Given the description of an element on the screen output the (x, y) to click on. 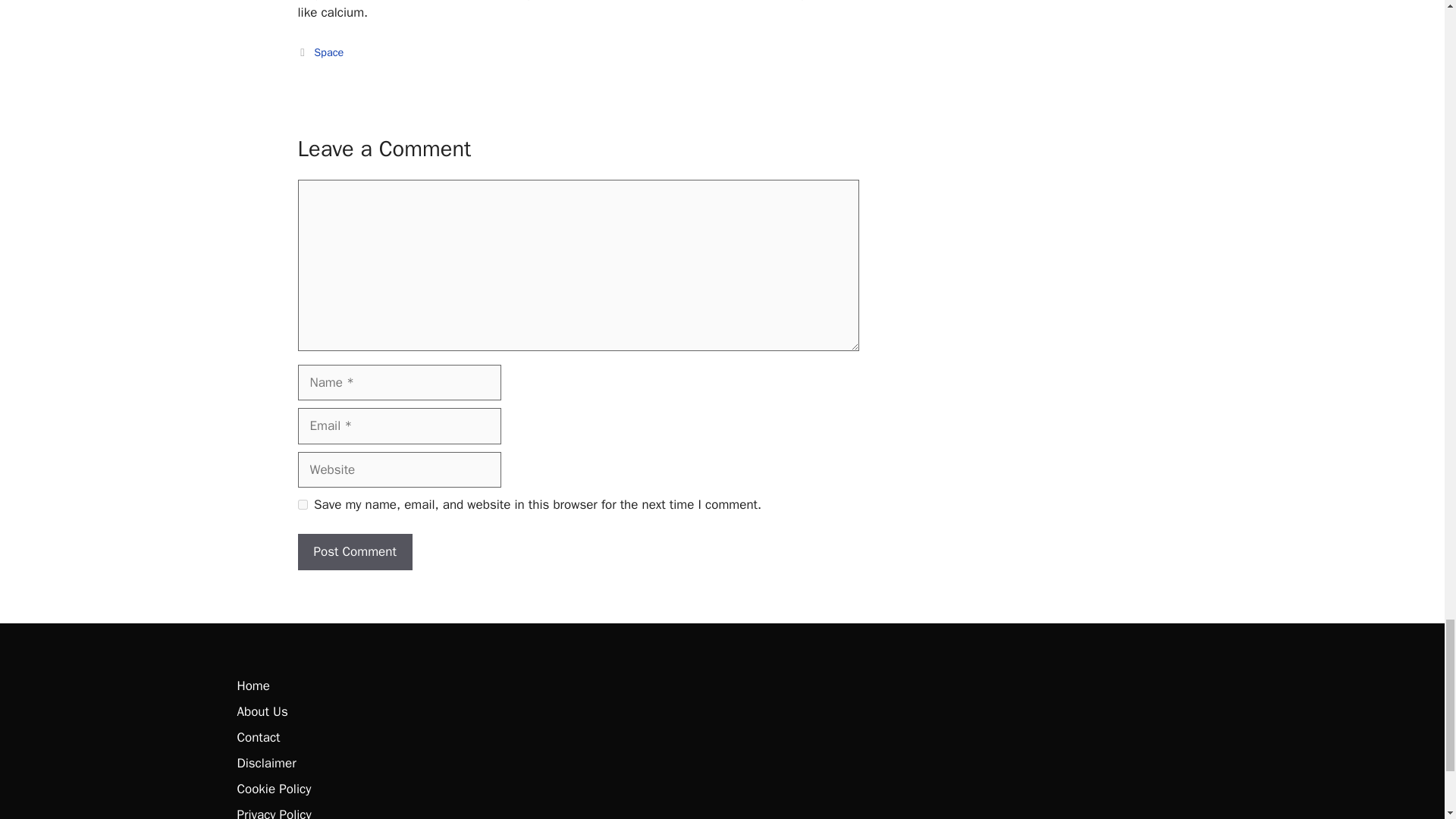
Home (252, 685)
Post Comment (354, 551)
Cookie Policy (273, 788)
About Us (260, 711)
Privacy Policy (273, 812)
Disclaimer (265, 763)
Post Comment (354, 551)
Contact (257, 737)
Space (328, 51)
yes (302, 504)
